Given the description of an element on the screen output the (x, y) to click on. 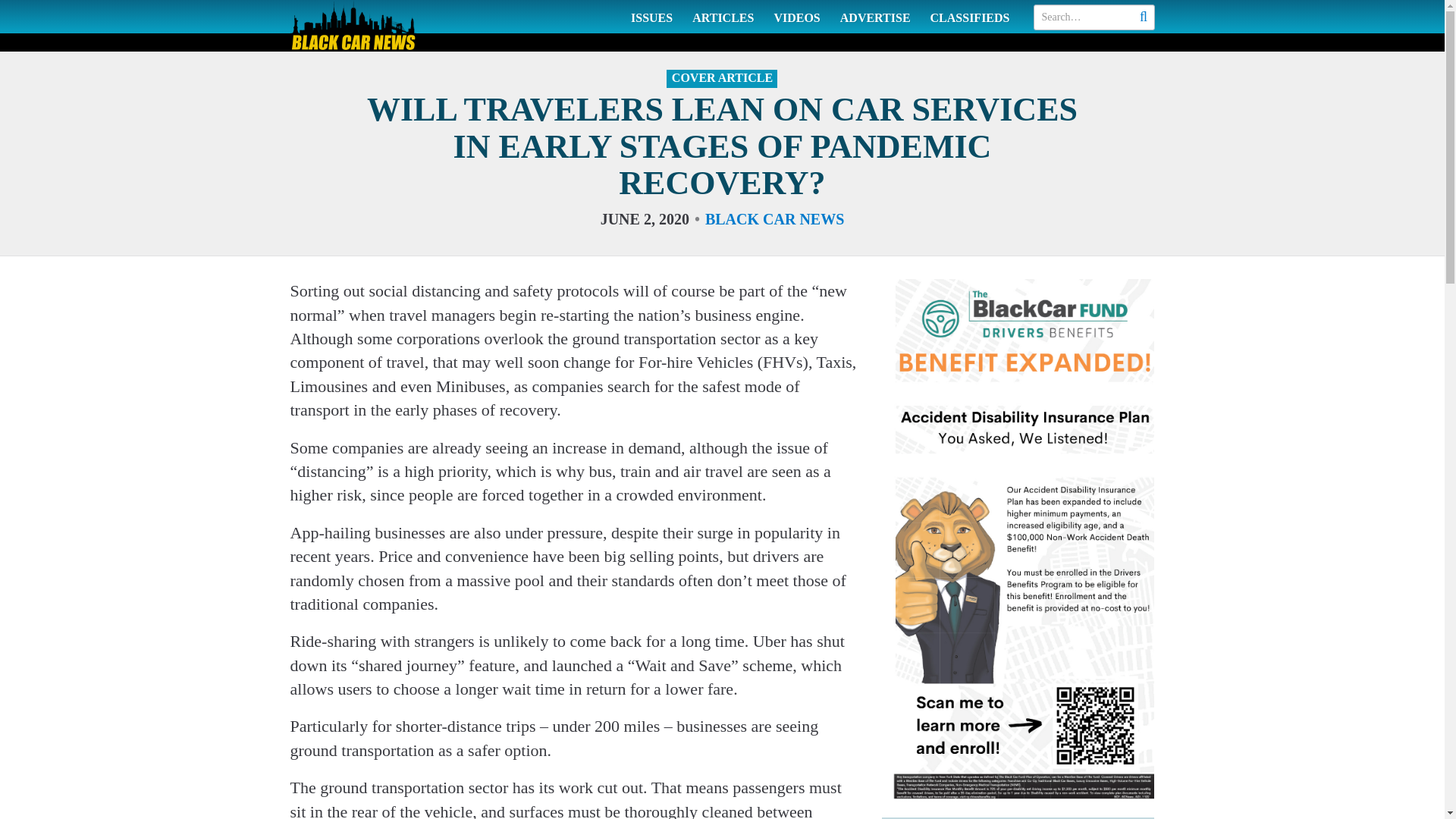
ARTICLES (722, 16)
COVER ARTICLE (721, 78)
VIDEOS (795, 16)
BLACK CAR NEWS (774, 218)
ADVERTISE (874, 16)
Tuesday, June 2nd, 2020, 3:38 pm (643, 218)
CLASSIFIEDS (970, 16)
ISSUES (651, 16)
